Given the description of an element on the screen output the (x, y) to click on. 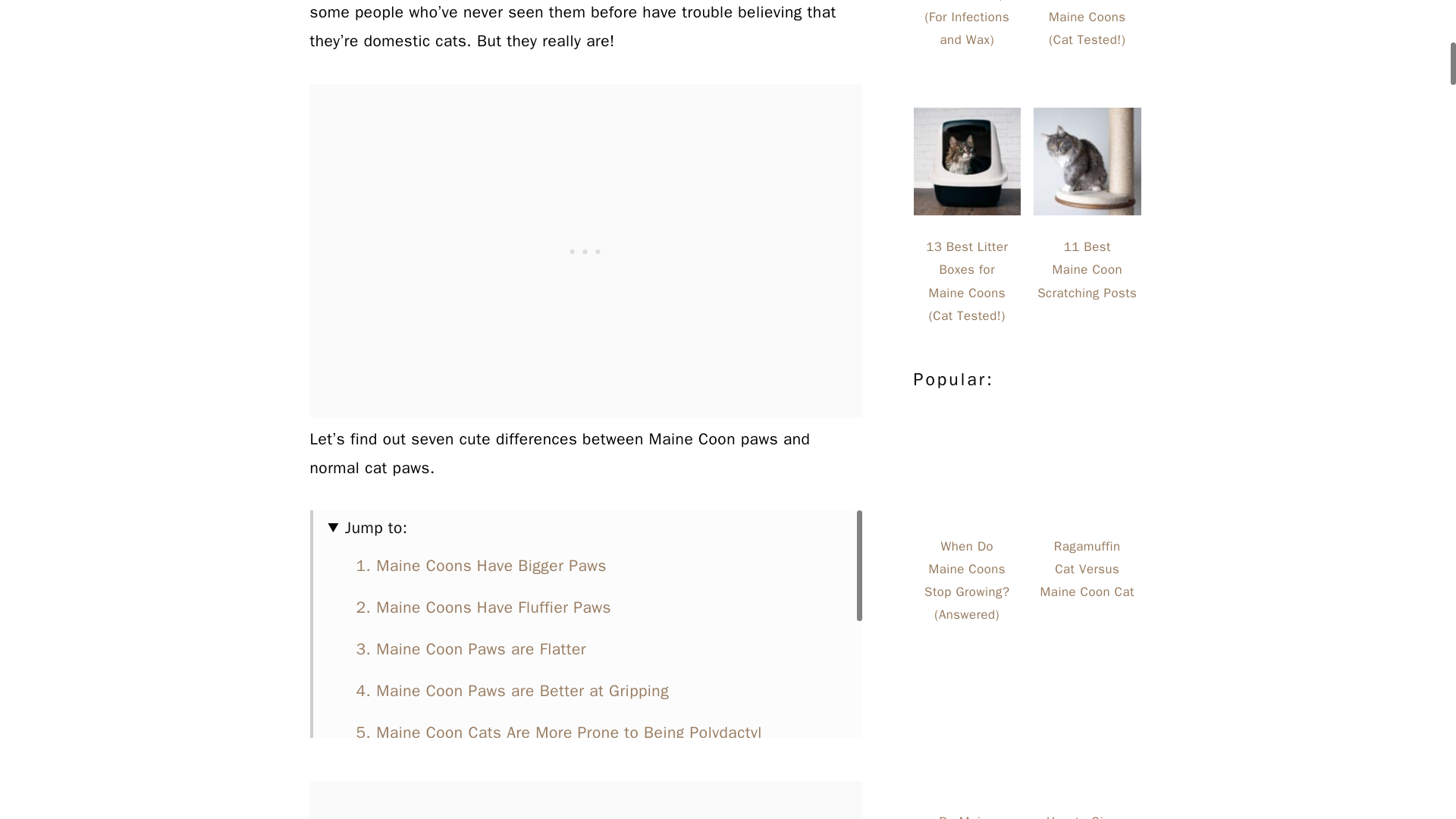
3. Maine Coon Paws are Flatter (471, 649)
2. Maine Coons Have Fluffier Paws  (485, 607)
1. Maine Coons Have Bigger Paws (481, 565)
